Given the description of an element on the screen output the (x, y) to click on. 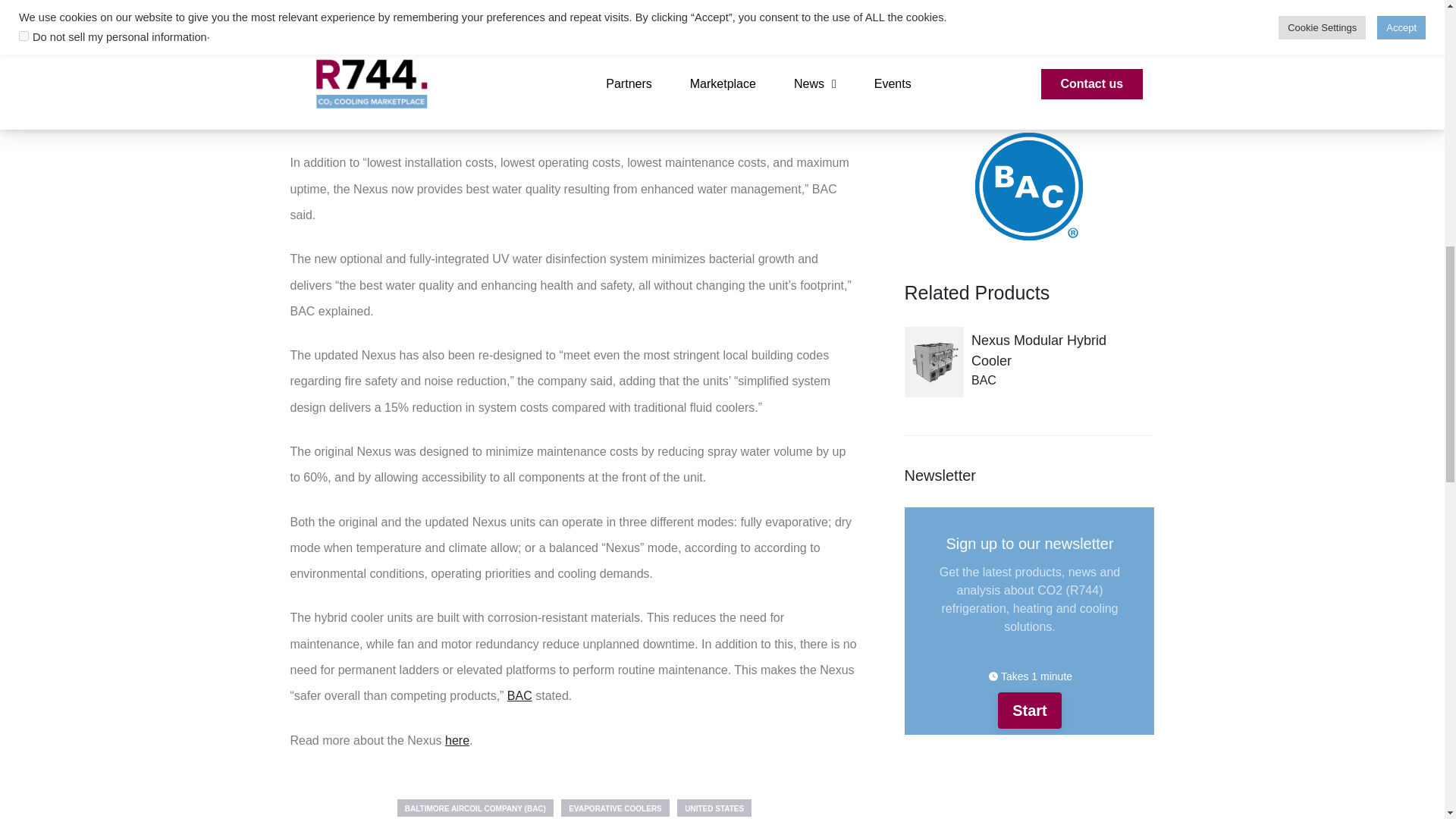
Search (1128, 8)
typeform-embed (1029, 620)
Search (1128, 8)
